Given the description of an element on the screen output the (x, y) to click on. 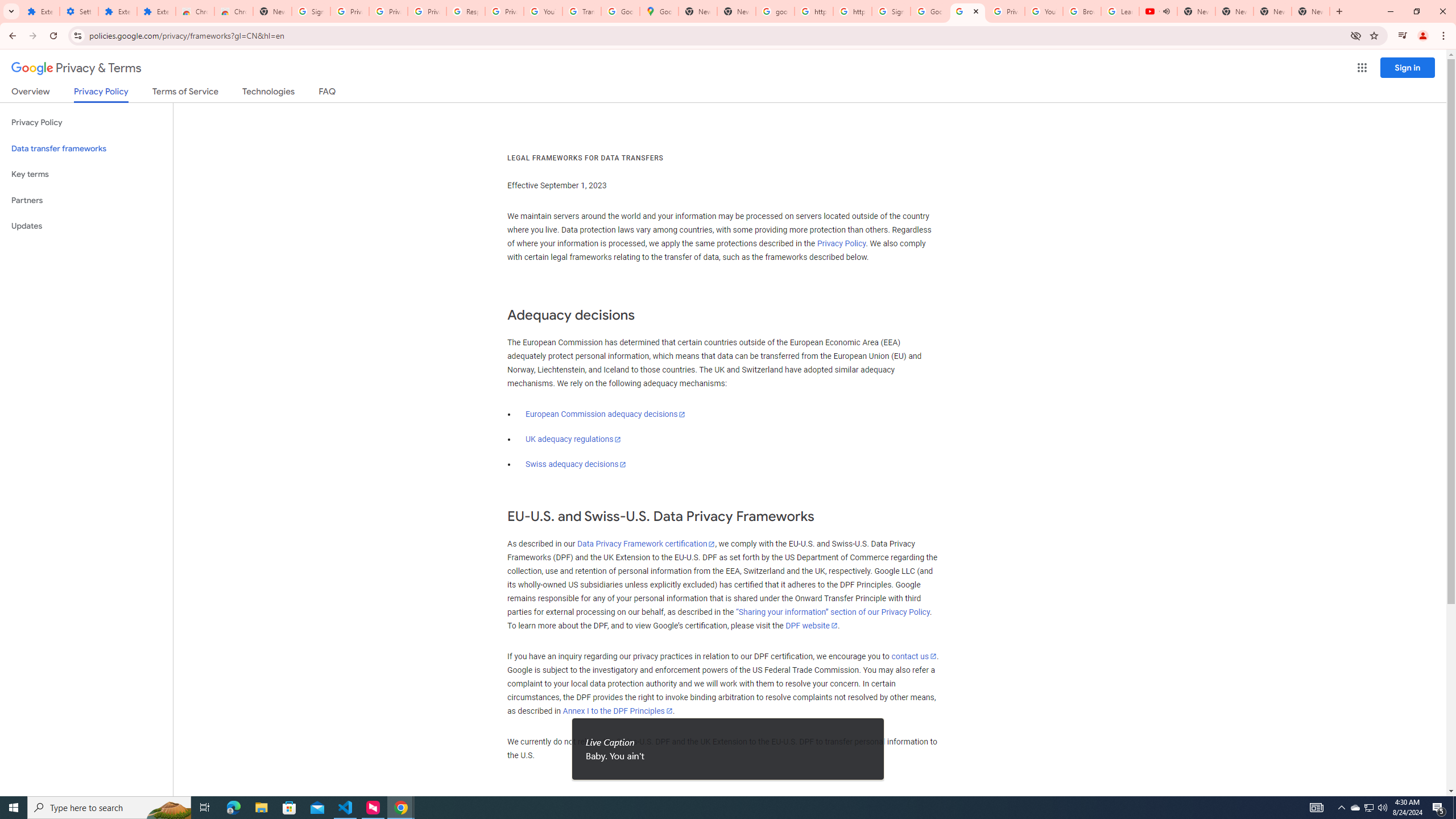
UK adequacy regulations (573, 439)
Extensions (117, 11)
https://scholar.google.com/ (813, 11)
